Given the description of an element on the screen output the (x, y) to click on. 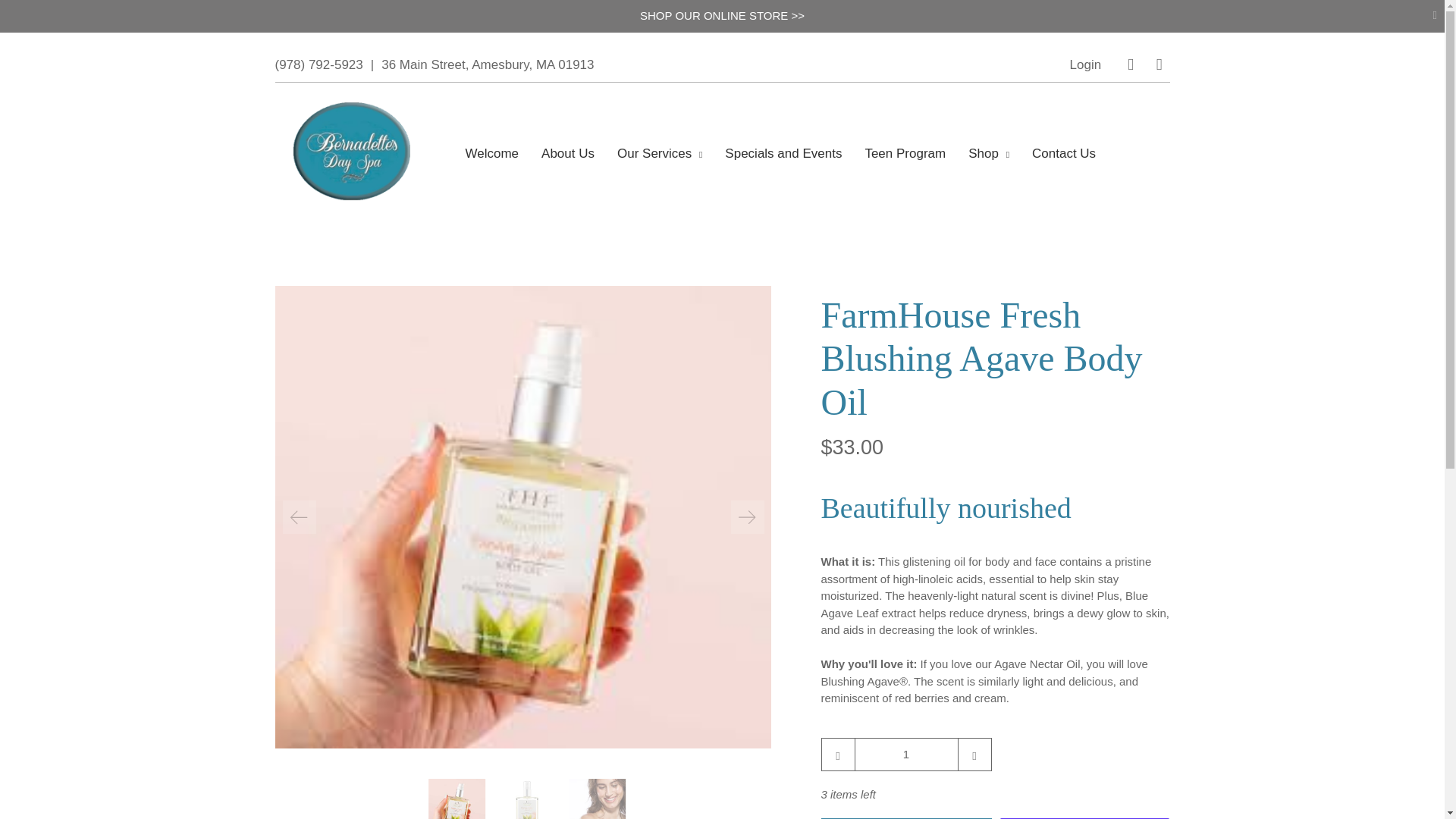
My Account  (1086, 64)
Login (1086, 64)
Welcome (492, 153)
Shop (988, 153)
1 (905, 753)
Specials and Events (782, 153)
Our Services (660, 153)
About Us (568, 153)
Teen Program (905, 153)
Contact Us (1064, 153)
